Given the description of an element on the screen output the (x, y) to click on. 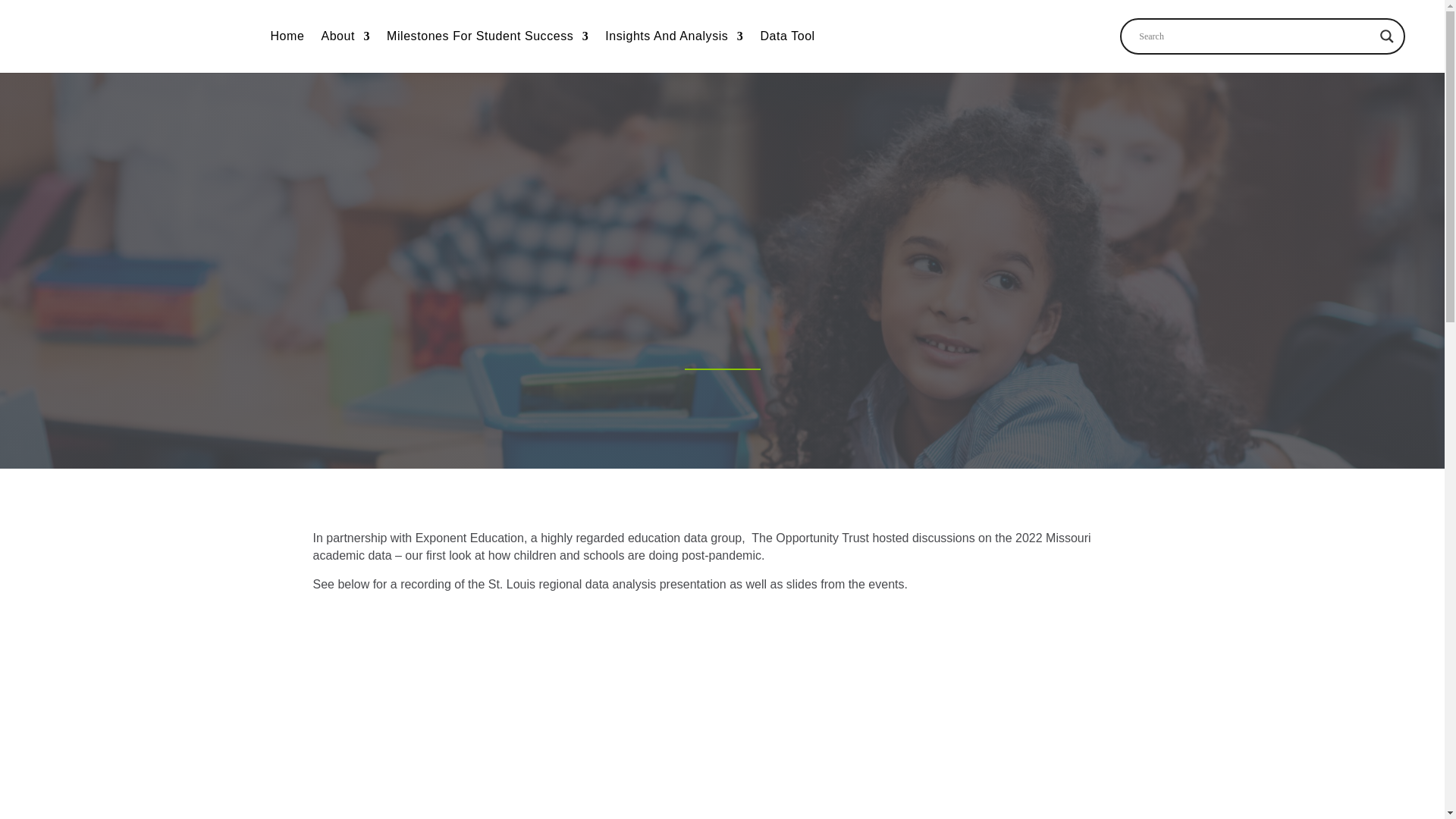
Home (286, 39)
Insights And Analysis (673, 39)
Data Tool (786, 39)
Milestones For Student Success (487, 39)
YouTube video player (721, 727)
About (344, 39)
